Given the description of an element on the screen output the (x, y) to click on. 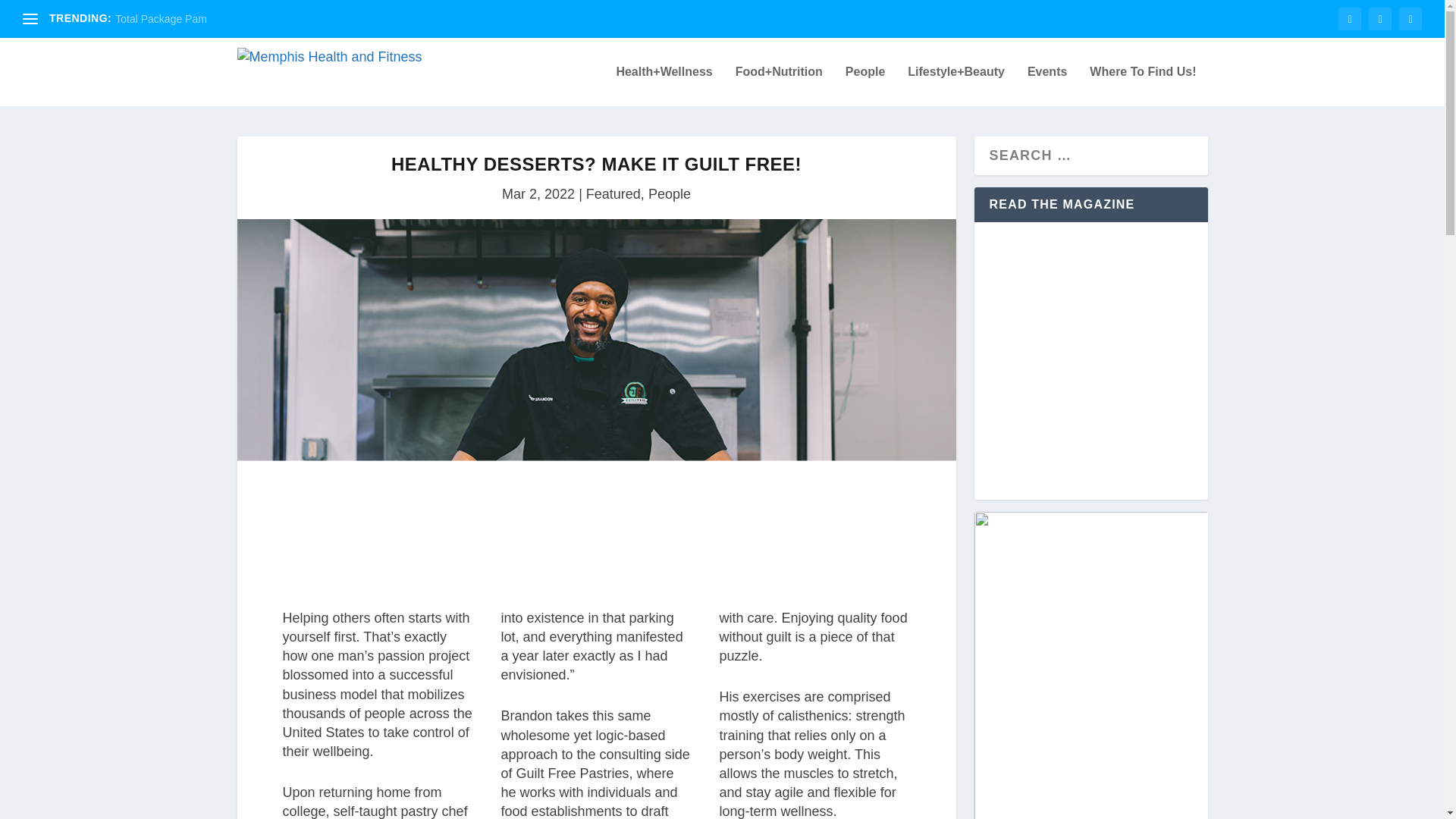
Events (1047, 86)
Featured (613, 193)
People (668, 193)
Where To Find Us! (1142, 86)
People (865, 86)
Total Package Pam (160, 19)
Search (37, 15)
